Given the description of an element on the screen output the (x, y) to click on. 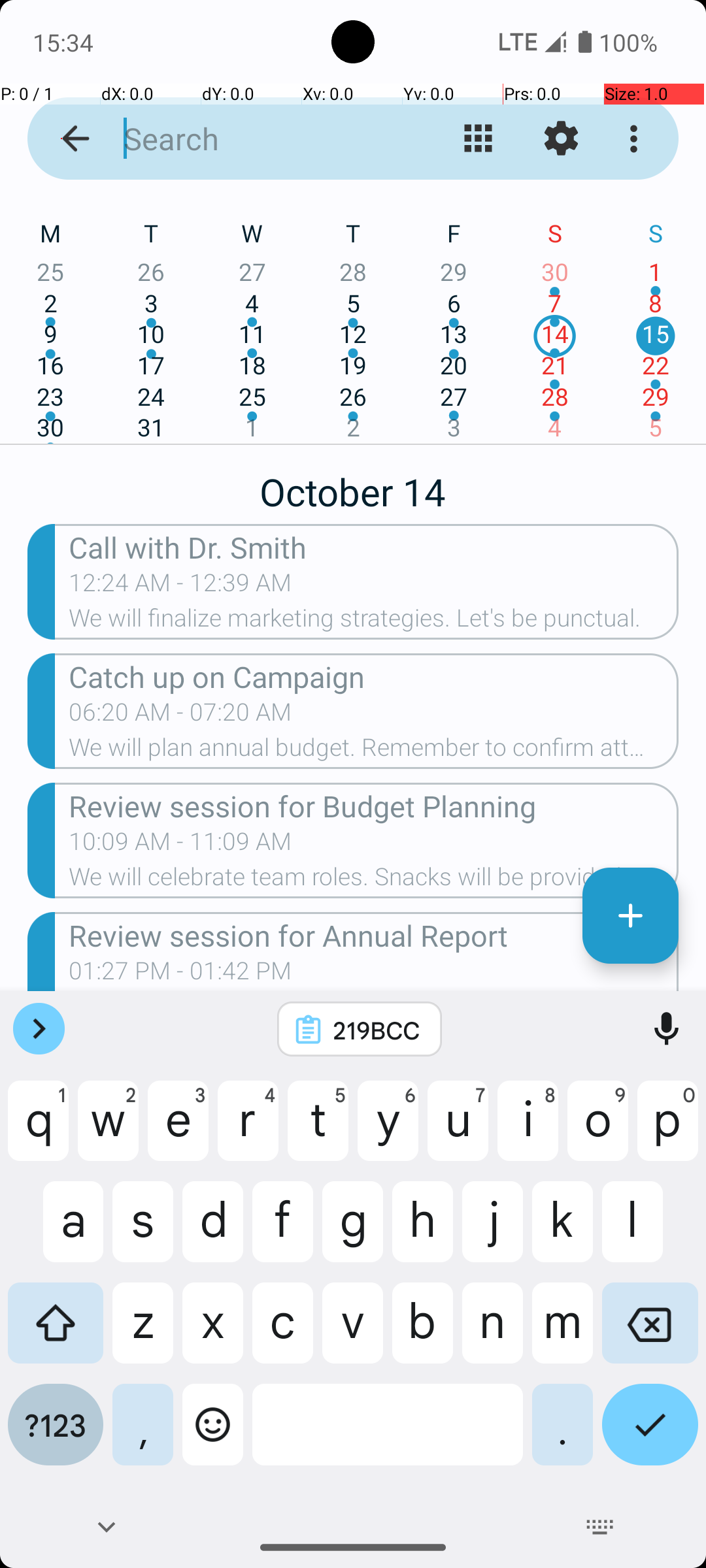
October 14 Element type: android.widget.TextView (352, 483)
12:24 AM - 12:39 AM Element type: android.widget.TextView (179, 586)
We will finalize marketing strategies. Let's be punctual. Element type: android.widget.TextView (373, 621)
06:20 AM - 07:20 AM Element type: android.widget.TextView (179, 715)
We will plan annual budget. Remember to confirm attendance. Element type: android.widget.TextView (373, 750)
10:09 AM - 11:09 AM Element type: android.widget.TextView (179, 845)
We will celebrate team roles. Snacks will be provided. Element type: android.widget.TextView (373, 880)
01:27 PM - 01:42 PM Element type: android.widget.TextView (179, 974)
219BCC Element type: android.widget.TextView (376, 1029)
